Given the description of an element on the screen output the (x, y) to click on. 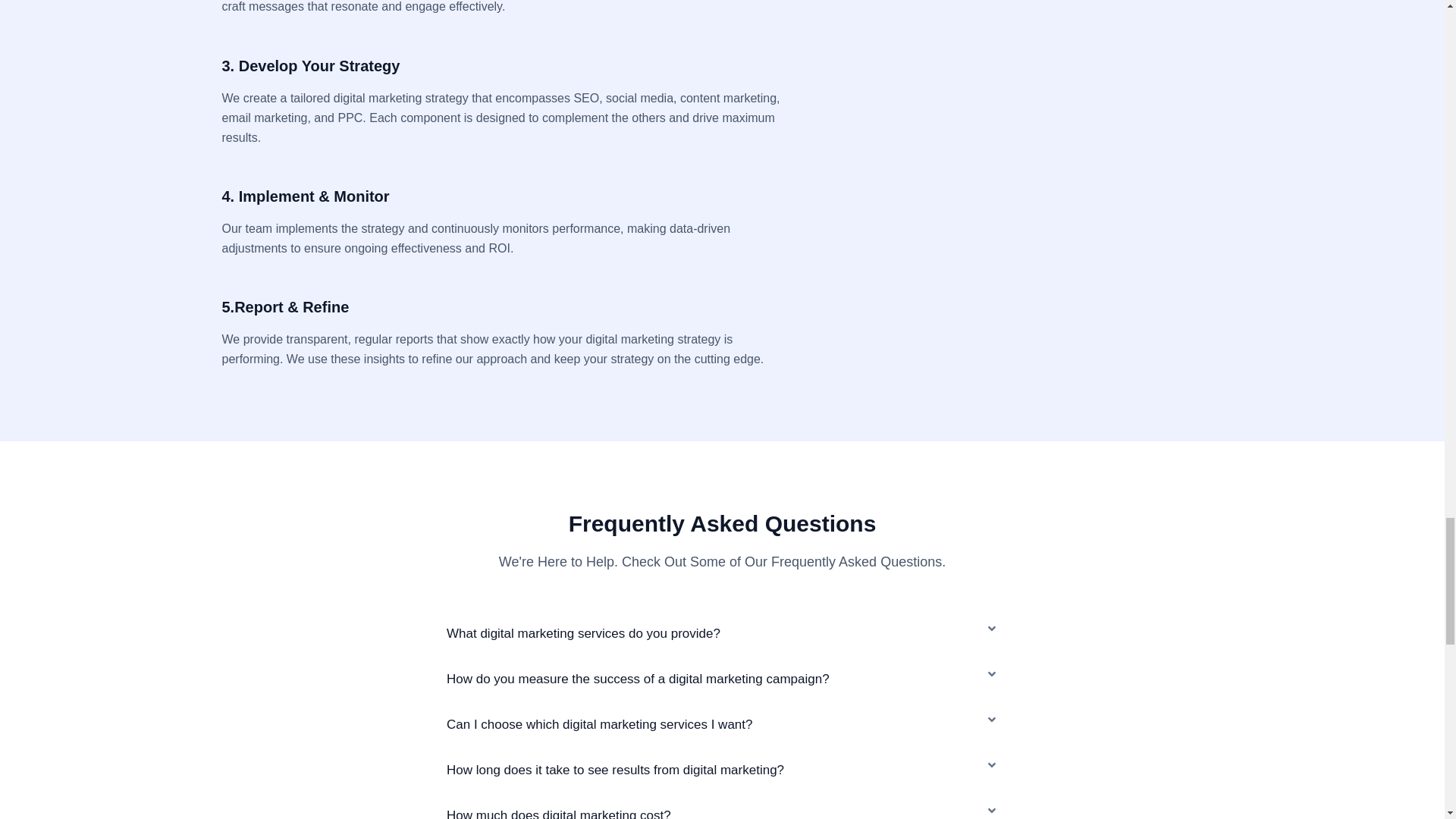
How much does digital marketing cost? (558, 813)
What digital marketing services do you provide? (583, 633)
Can I choose which digital marketing services I want? (599, 724)
How long does it take to see results from digital marketing? (615, 769)
